Given the description of an element on the screen output the (x, y) to click on. 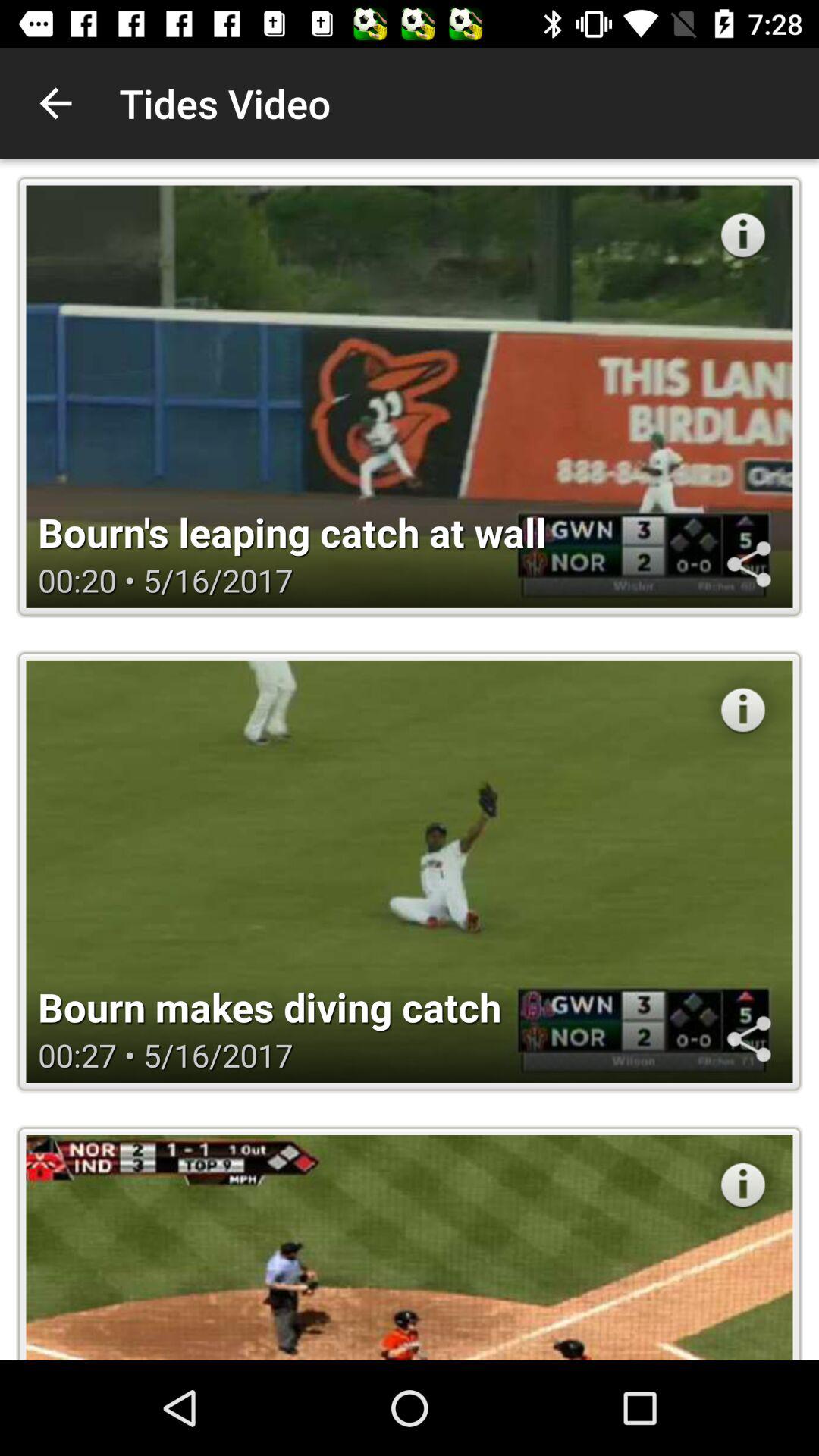
share video (748, 564)
